Given the description of an element on the screen output the (x, y) to click on. 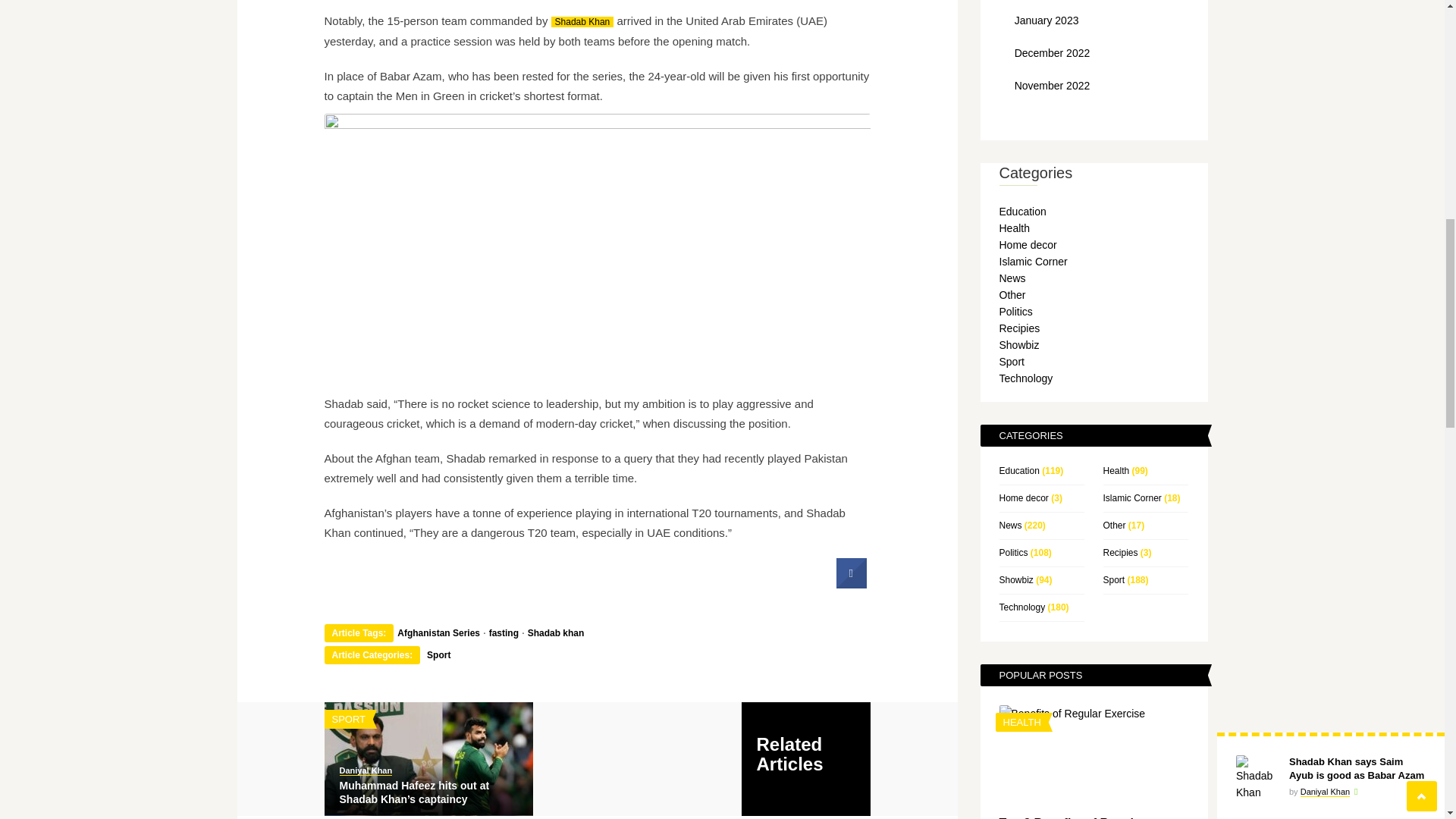
View all posts in Sport (348, 718)
Shadab Khan says Saim Ayub is good as Babar Azam (582, 21)
Posts by Daniyal Khan (366, 770)
Share on Facebook (850, 584)
